Given the description of an element on the screen output the (x, y) to click on. 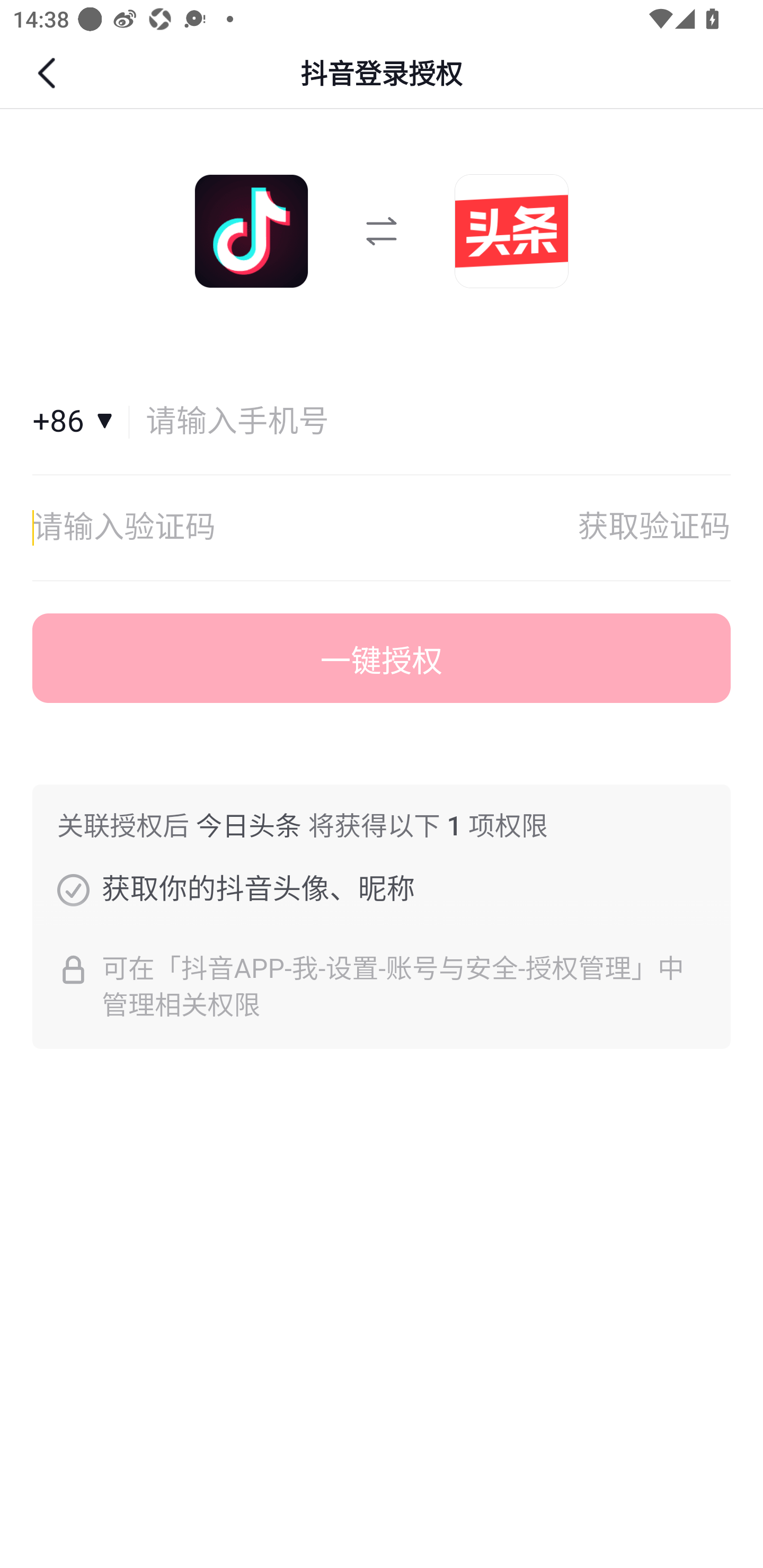
返回 (49, 72)
国家和地区+86 (81, 421)
获取验证码 (653, 527)
一键授权 (381, 658)
获取你的抖音头像、昵称 (72, 889)
